Given the description of an element on the screen output the (x, y) to click on. 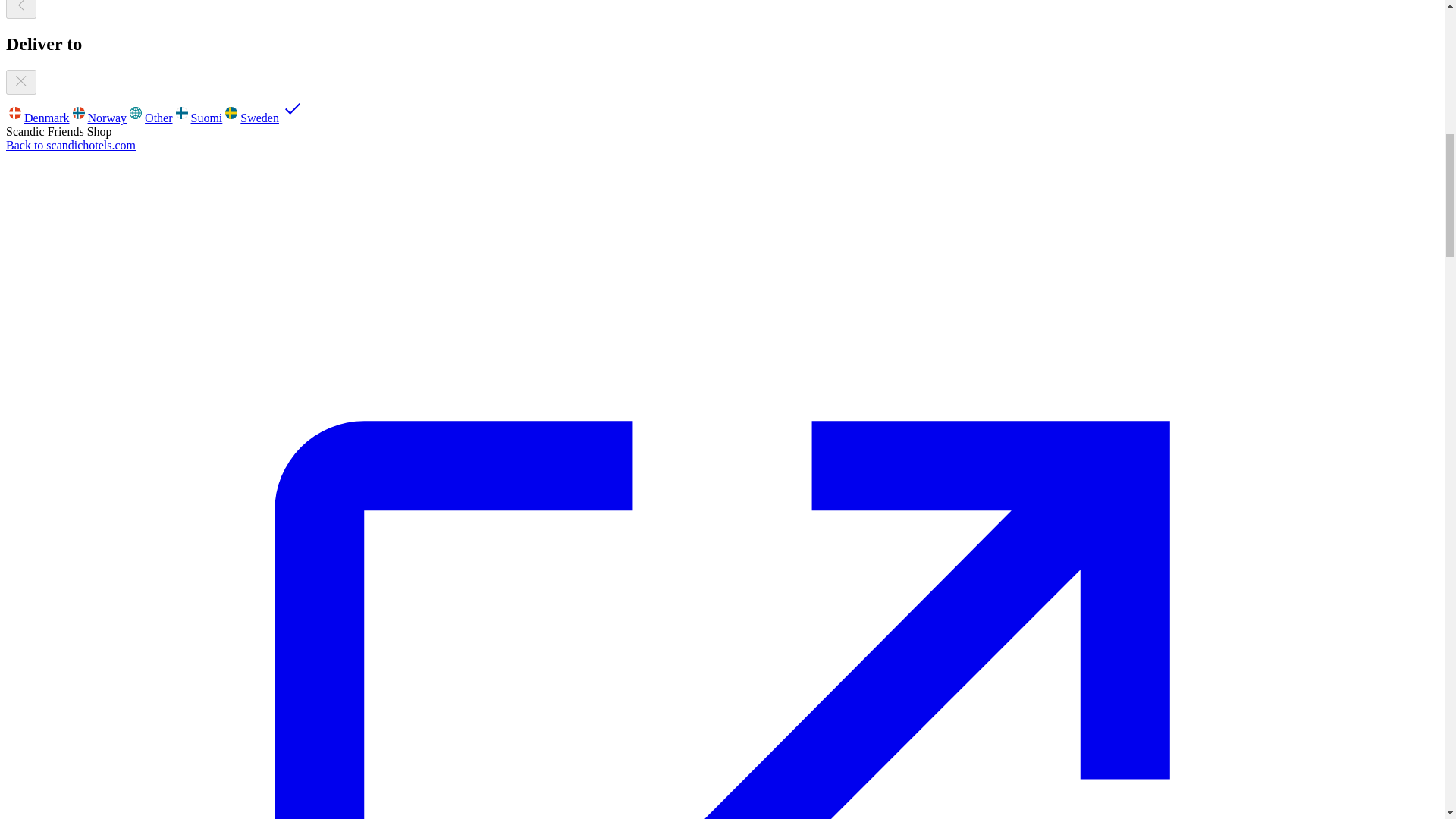
Suomi (197, 117)
Other (148, 117)
Norway (98, 117)
Sweden (263, 117)
Denmark (37, 117)
